Given the description of an element on the screen output the (x, y) to click on. 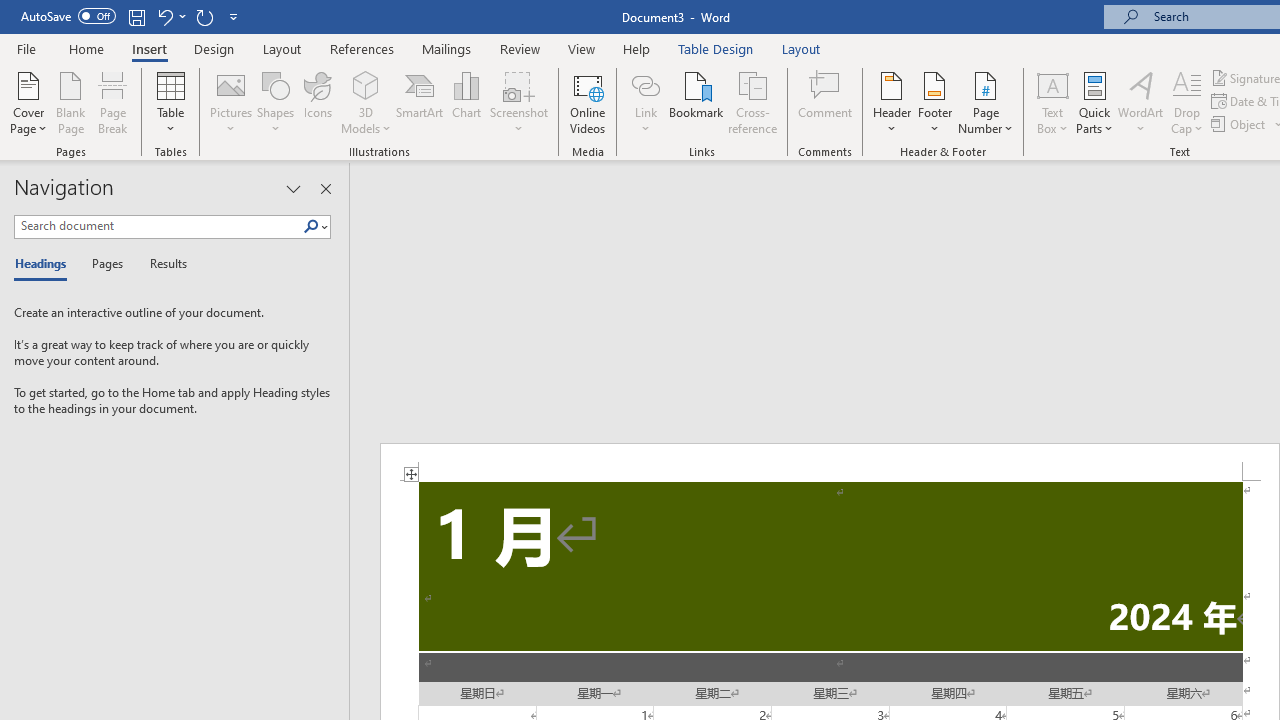
Shapes (275, 102)
Link (645, 84)
3D Models (366, 84)
Page Number (986, 102)
